Given the description of an element on the screen output the (x, y) to click on. 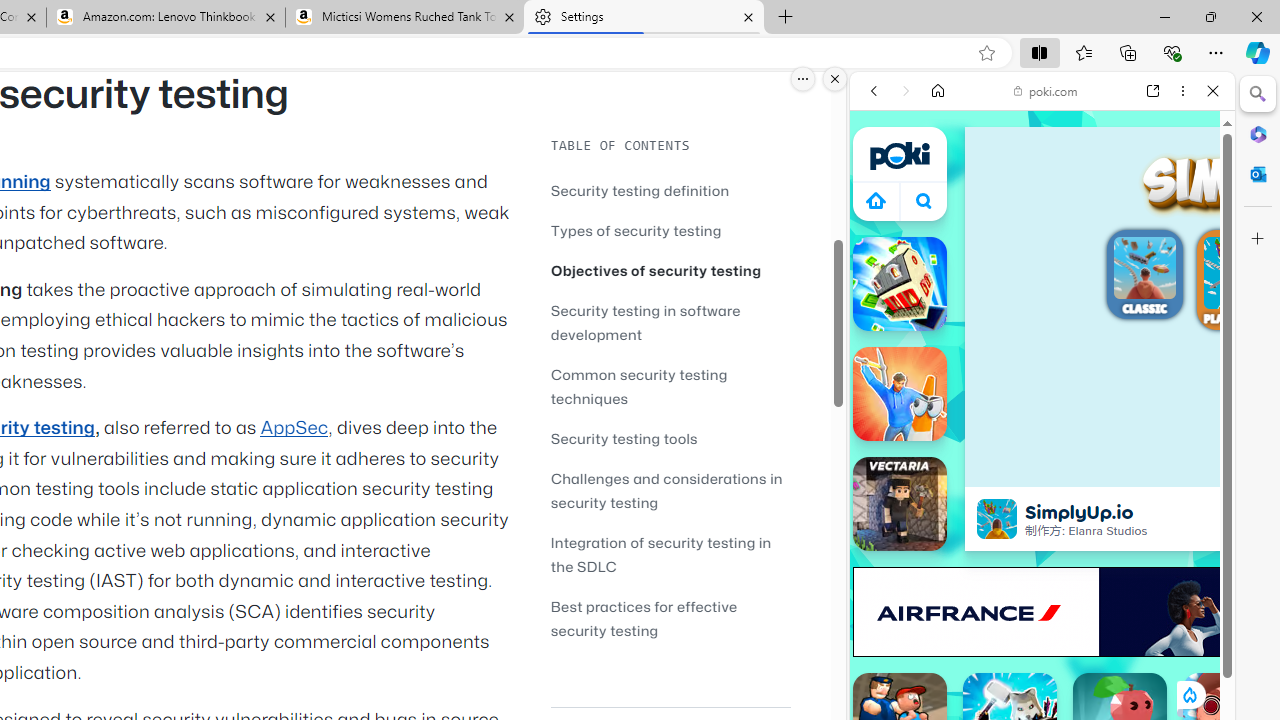
Close split screen. (835, 79)
